Given the description of an element on the screen output the (x, y) to click on. 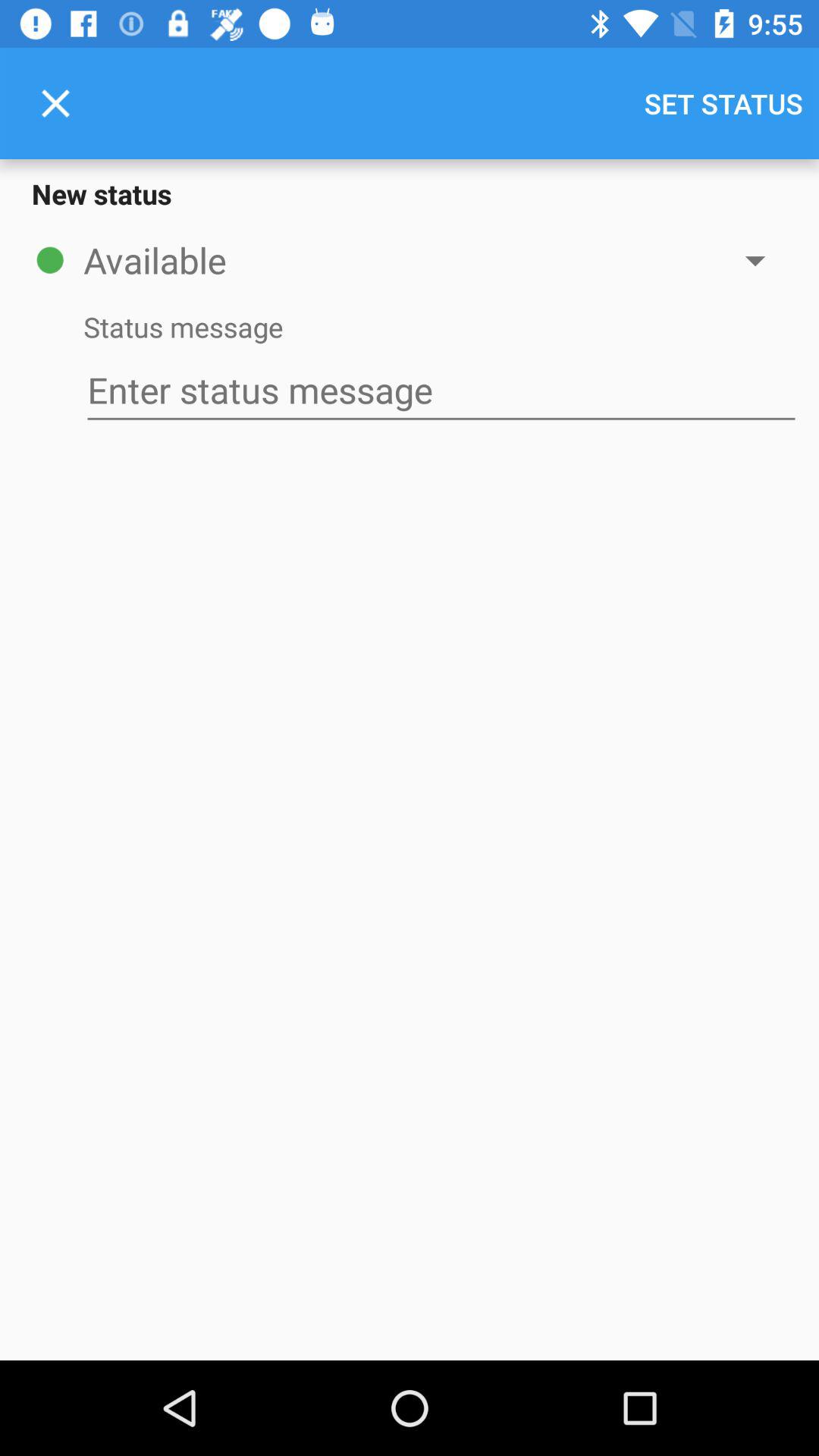
launch icon to the left of set status (55, 103)
